Given the description of an element on the screen output the (x, y) to click on. 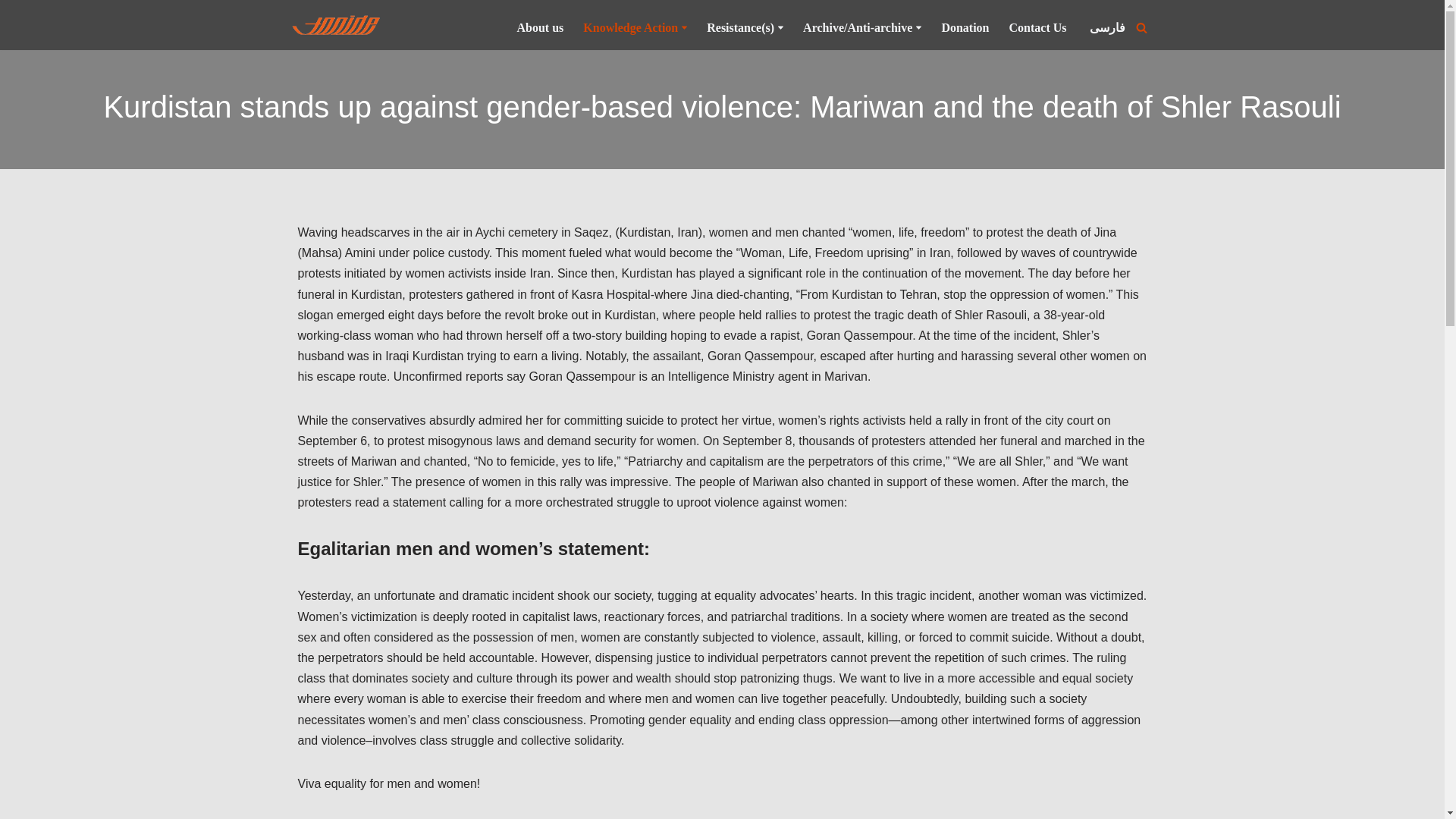
Donation (964, 27)
Knowledge Action (630, 27)
Skip to content (11, 31)
Contact Us  (1038, 27)
About us (540, 27)
